Given the description of an element on the screen output the (x, y) to click on. 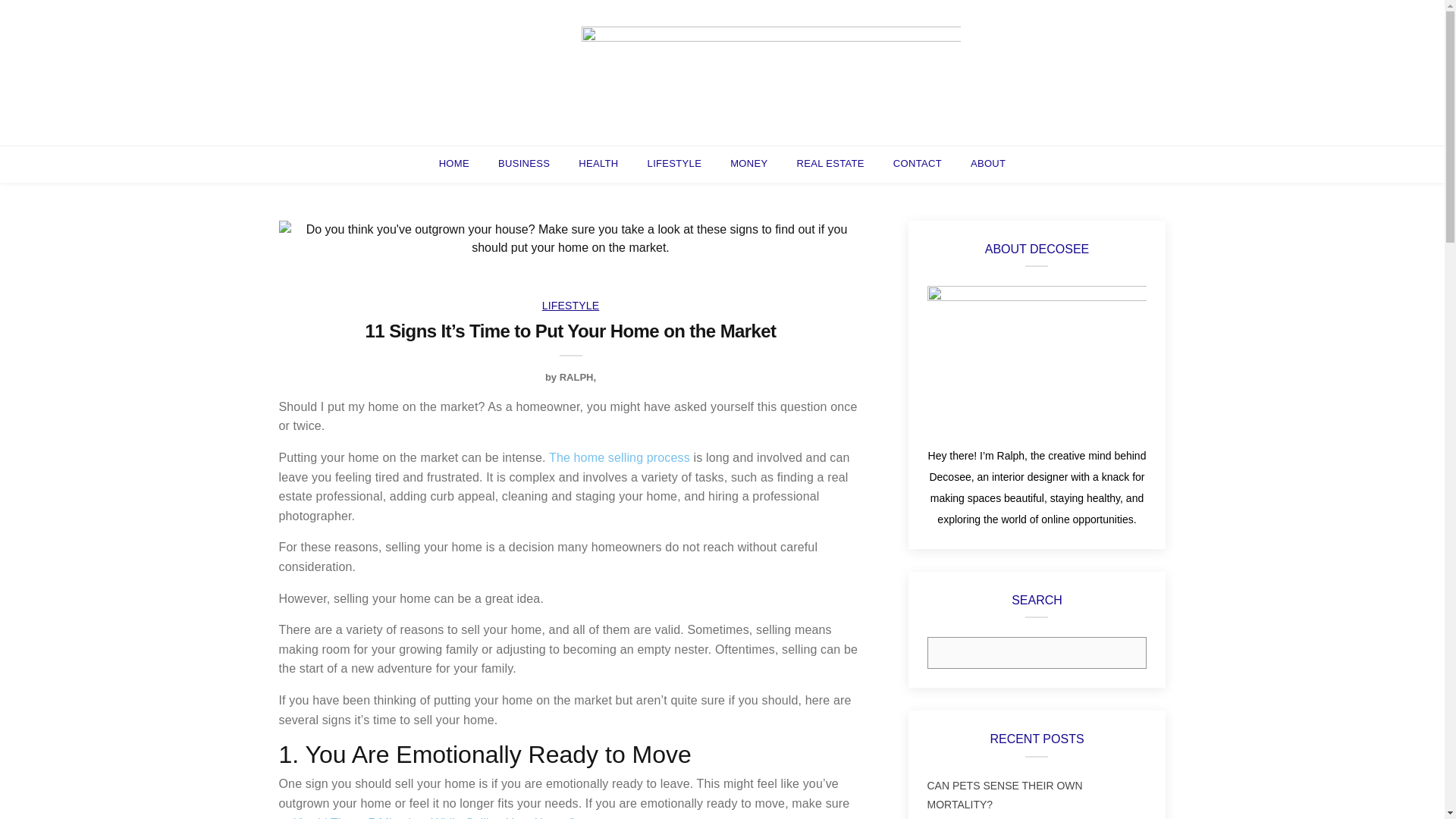
LIFESTYLE (571, 305)
REAL ESTATE (829, 163)
Ralph (576, 377)
MONEY (748, 163)
CAN PETS SENSE THEIR OWN MORTALITY? (1003, 794)
HEALTH (597, 163)
decOsee (770, 71)
ABOUT (988, 163)
LIFESTYLE (674, 163)
CONTACT (917, 163)
